Given the description of an element on the screen output the (x, y) to click on. 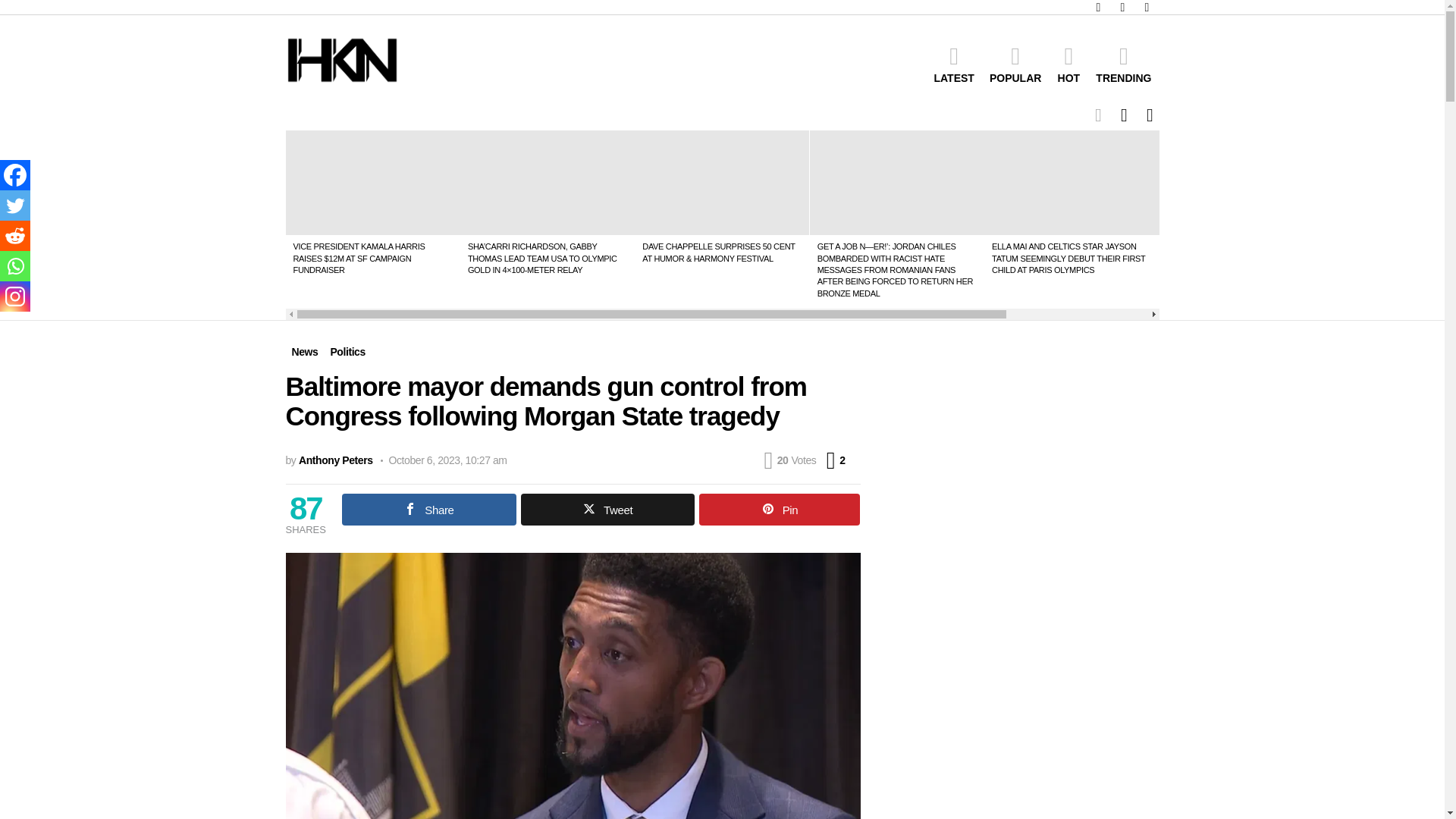
Anthony Peters (335, 460)
Posts by Anthony Peters (335, 460)
Share (429, 509)
instagram (1121, 7)
Politics (347, 351)
LATEST (953, 64)
News (304, 351)
POPULAR (1014, 64)
TRENDING (1122, 64)
